Given the description of an element on the screen output the (x, y) to click on. 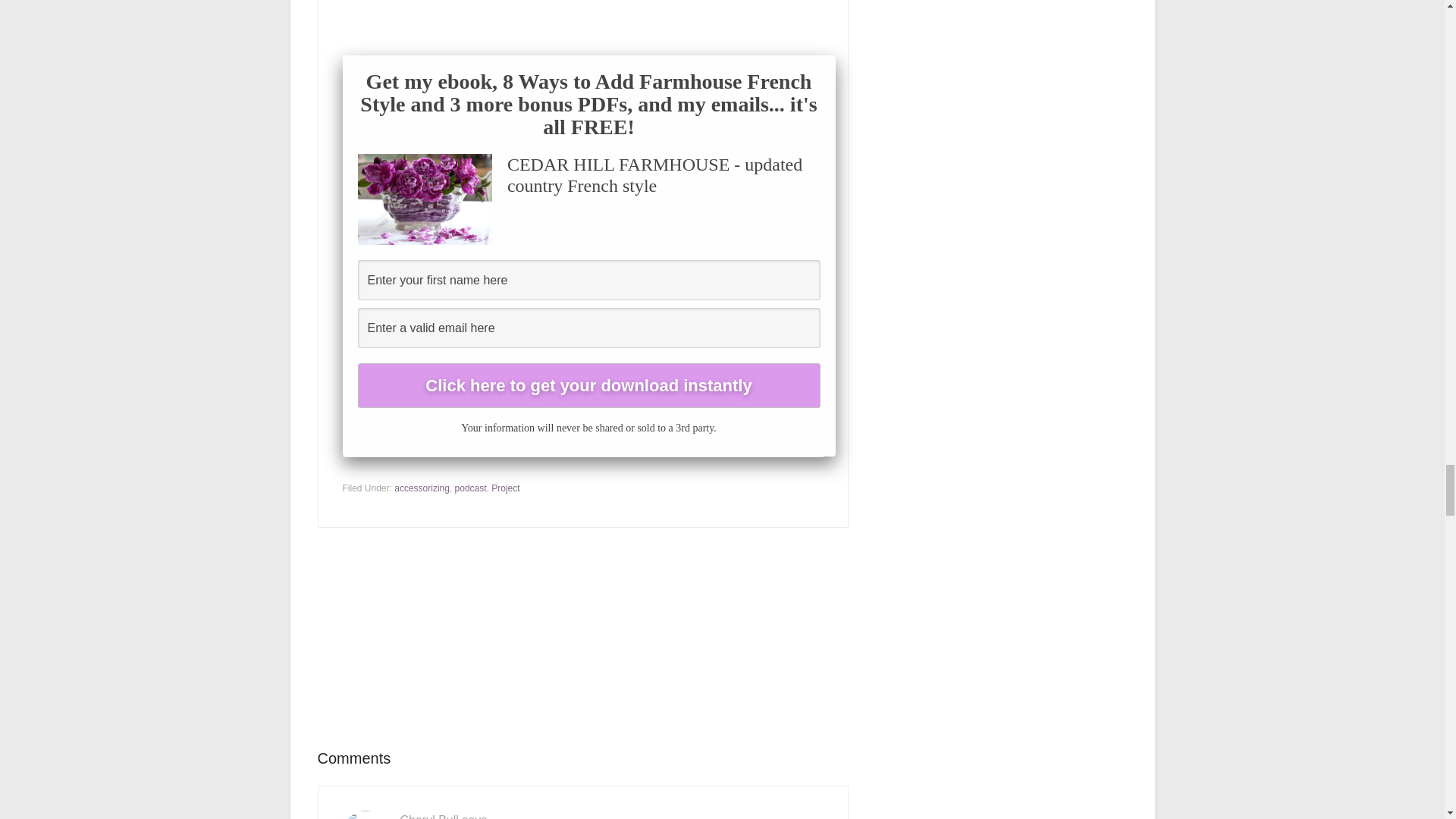
podcast (470, 488)
Click here to get your download instantly (589, 385)
Click here to get your download instantly (589, 385)
accessorizing (421, 488)
Project (505, 488)
